Given the description of an element on the screen output the (x, y) to click on. 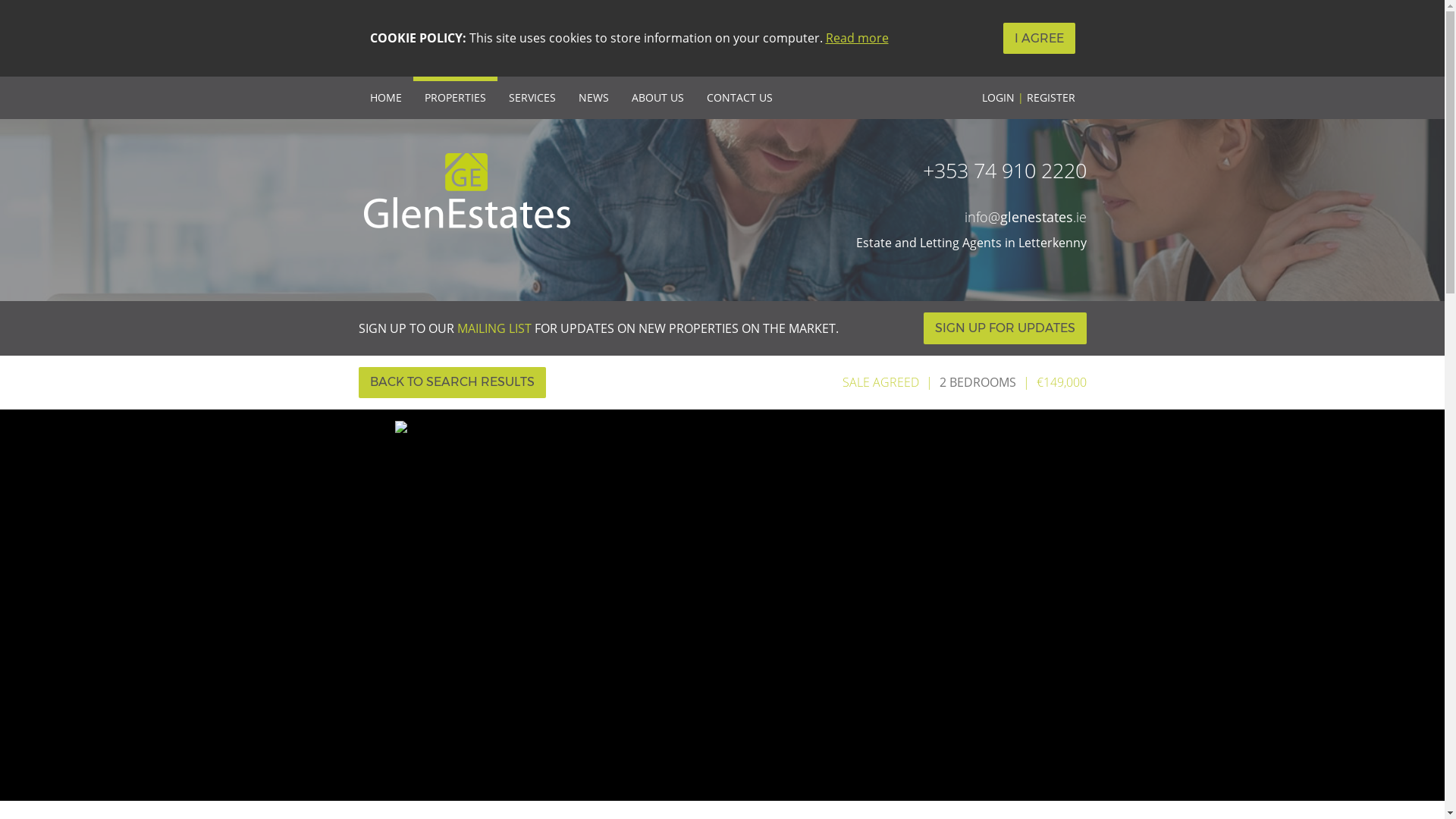
HOME (385, 97)
CONTACT US (738, 97)
PROPERTIES (454, 97)
Read more (856, 37)
SERVICES (532, 97)
NEWS (593, 97)
I AGREE (1038, 38)
ABOUT US (657, 97)
